Given the description of an element on the screen output the (x, y) to click on. 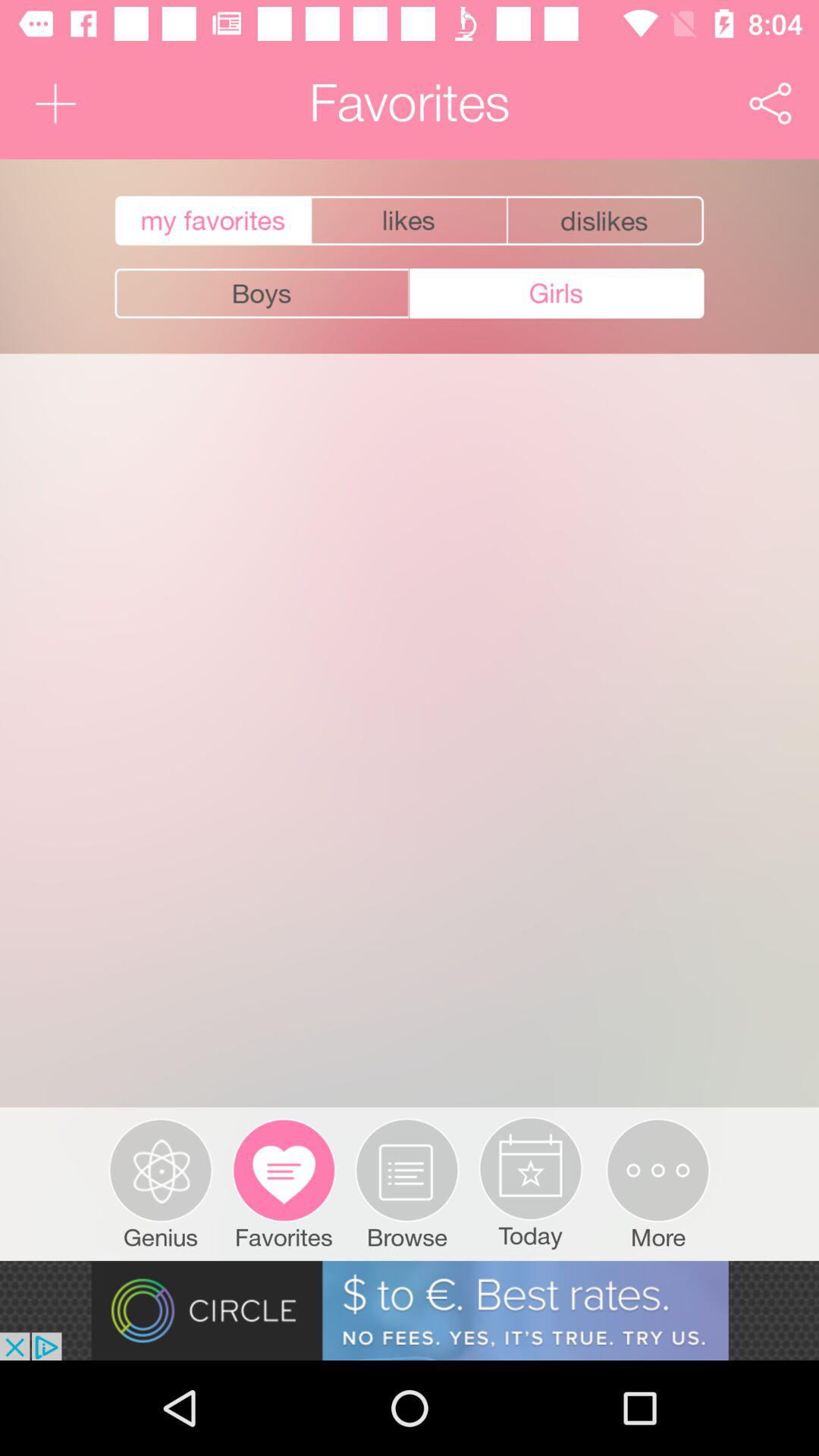
click for boy (261, 293)
